Given the description of an element on the screen output the (x, y) to click on. 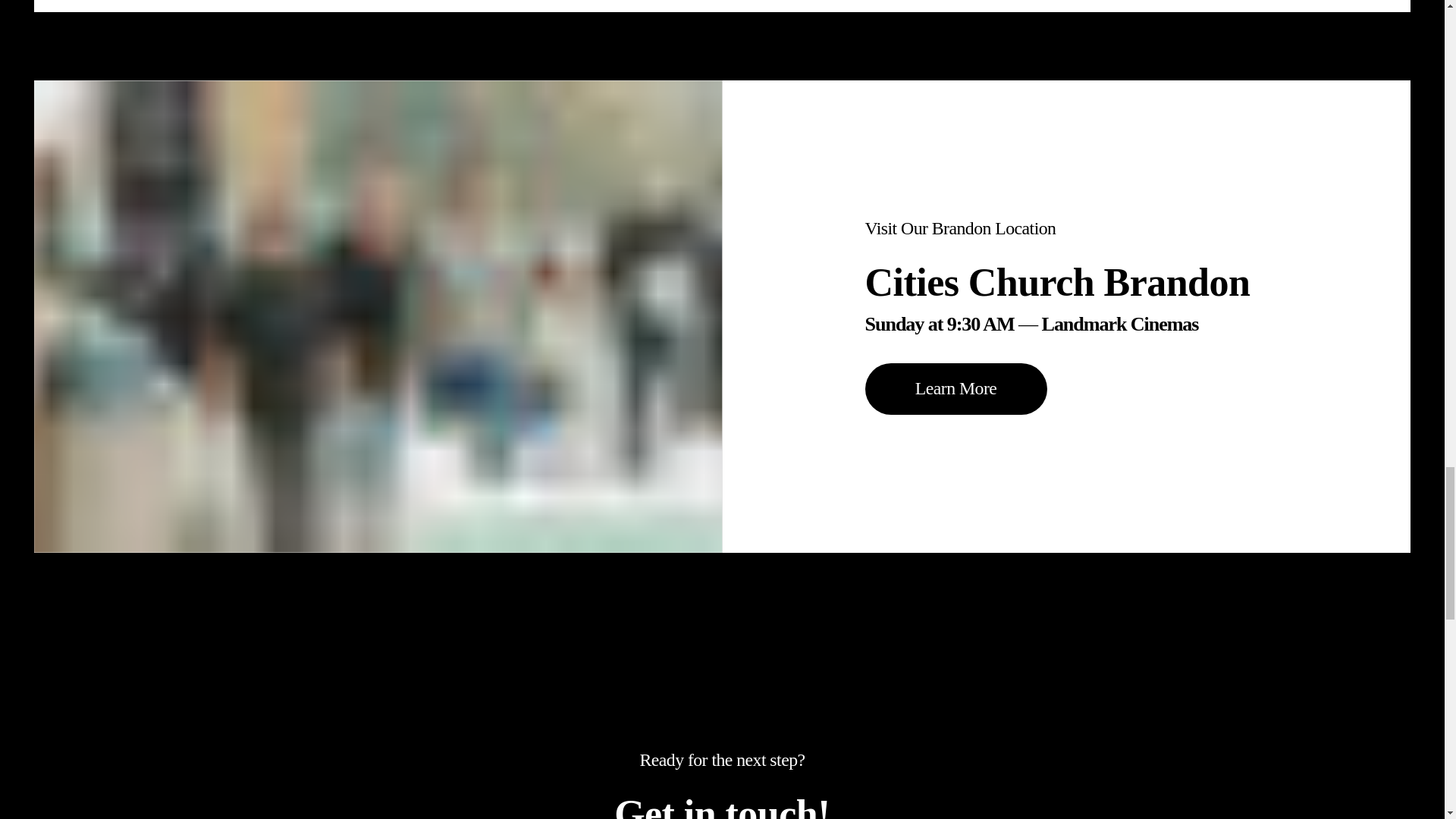
Learn More (955, 388)
